Given the description of an element on the screen output the (x, y) to click on. 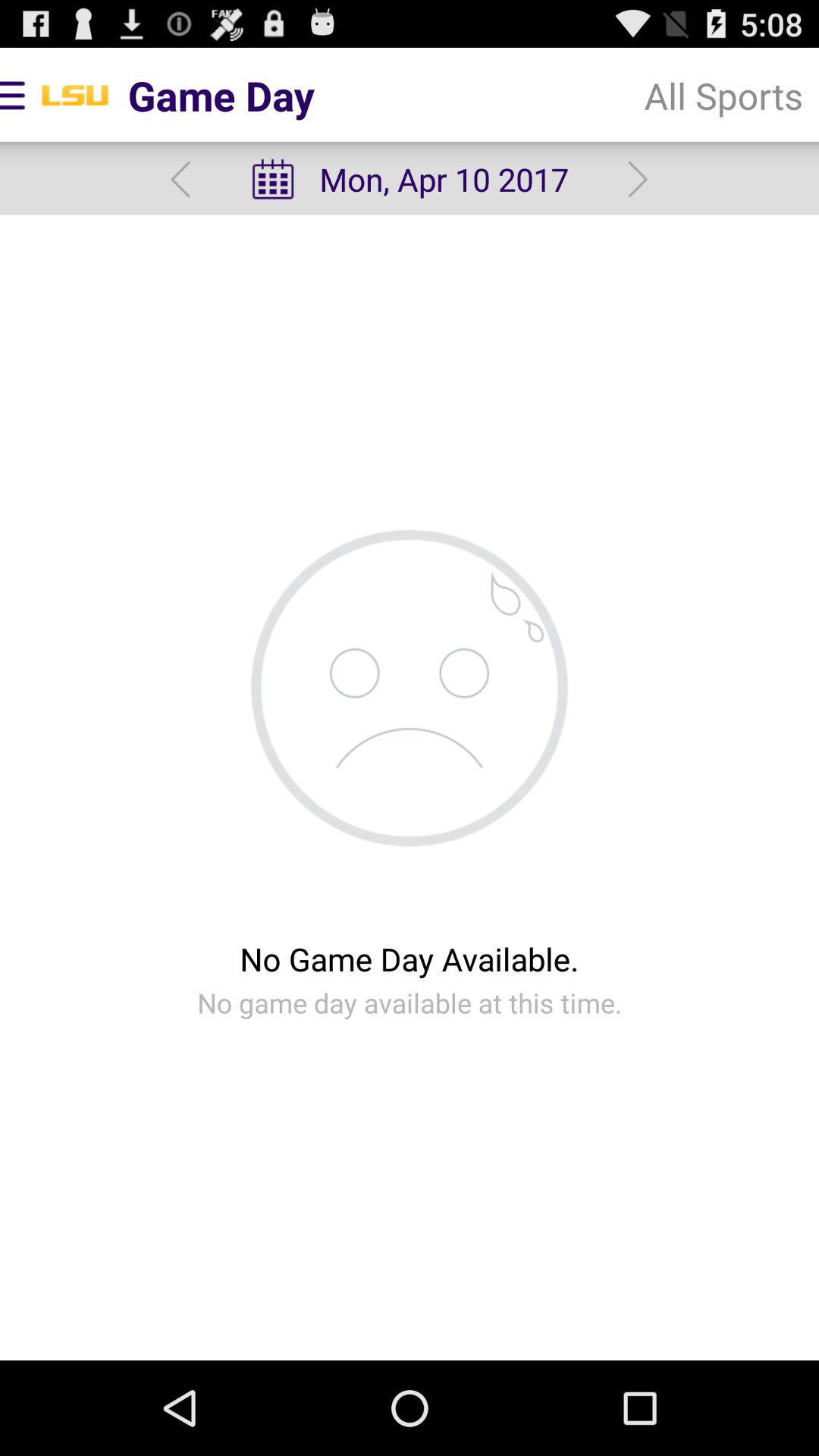
press the app at the top (408, 179)
